Given the description of an element on the screen output the (x, y) to click on. 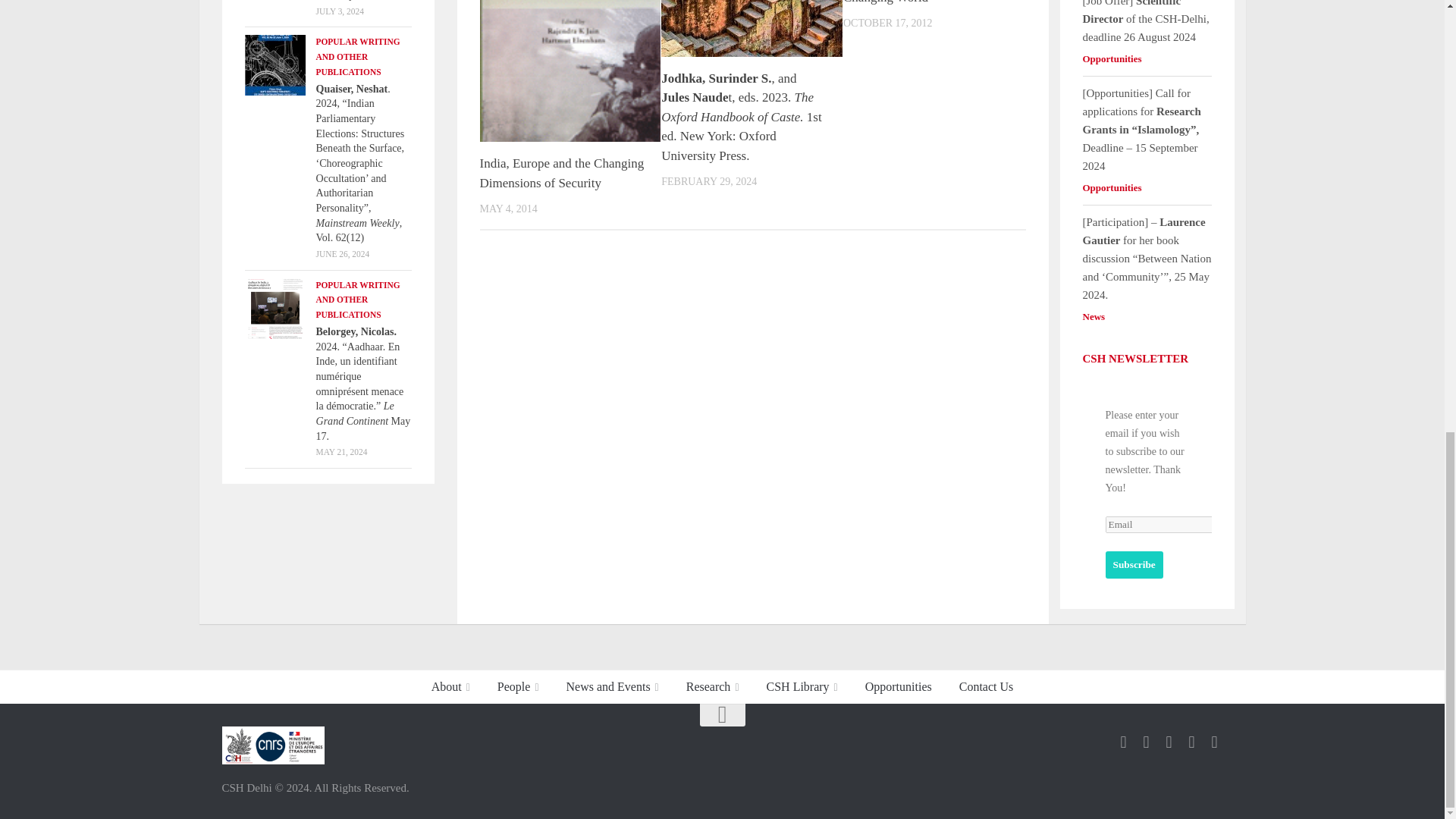
Subscribe (1134, 564)
